Given the description of an element on the screen output the (x, y) to click on. 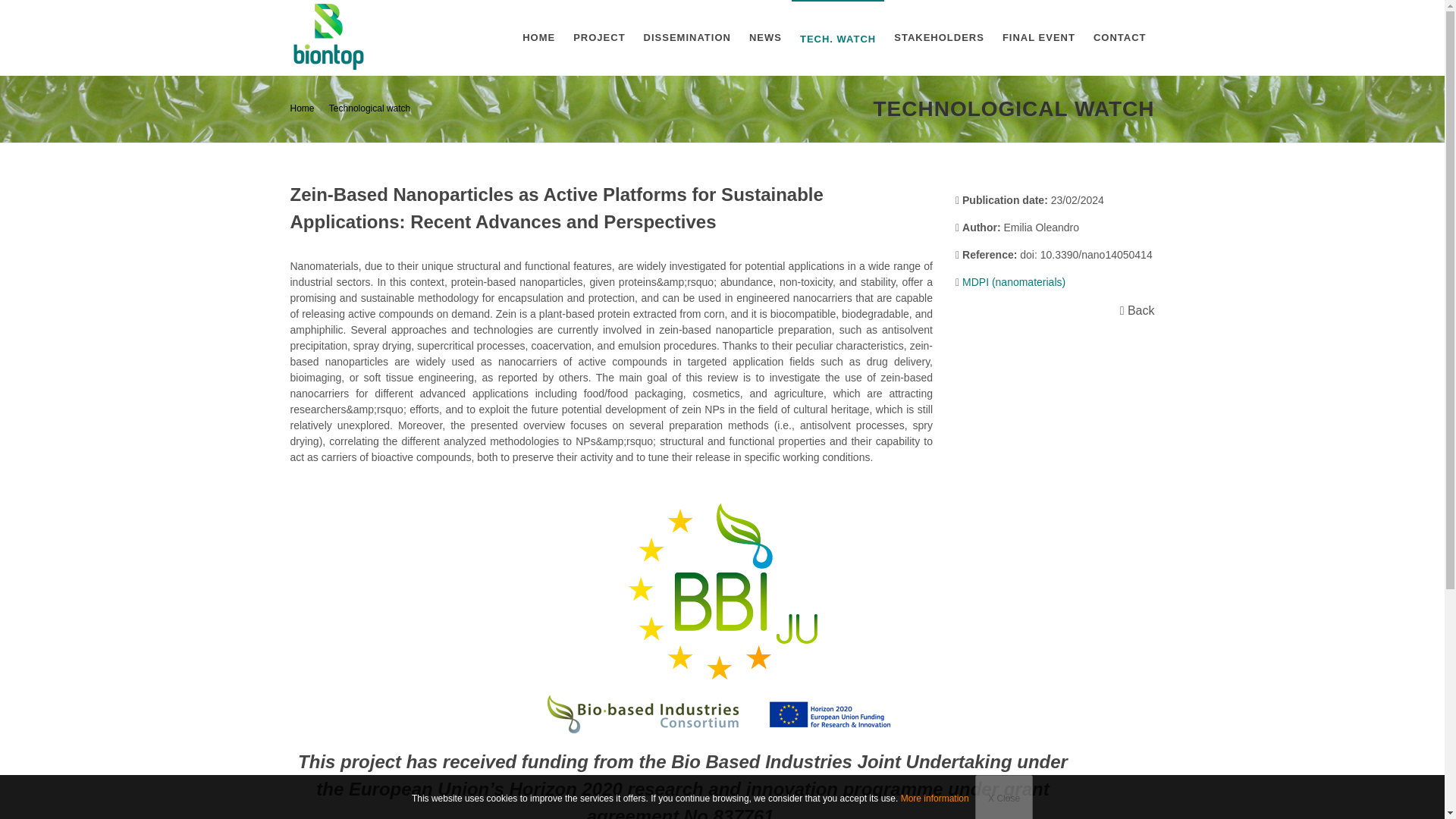
Home (301, 108)
FINAL EVENT (1038, 38)
Back (1180, 309)
PROJECT (598, 38)
Technological watch (369, 108)
DISSEMINATION (686, 38)
TECH. WATCH (837, 38)
X Close (1003, 796)
STAKEHOLDERS (938, 38)
More information (935, 798)
